Given the description of an element on the screen output the (x, y) to click on. 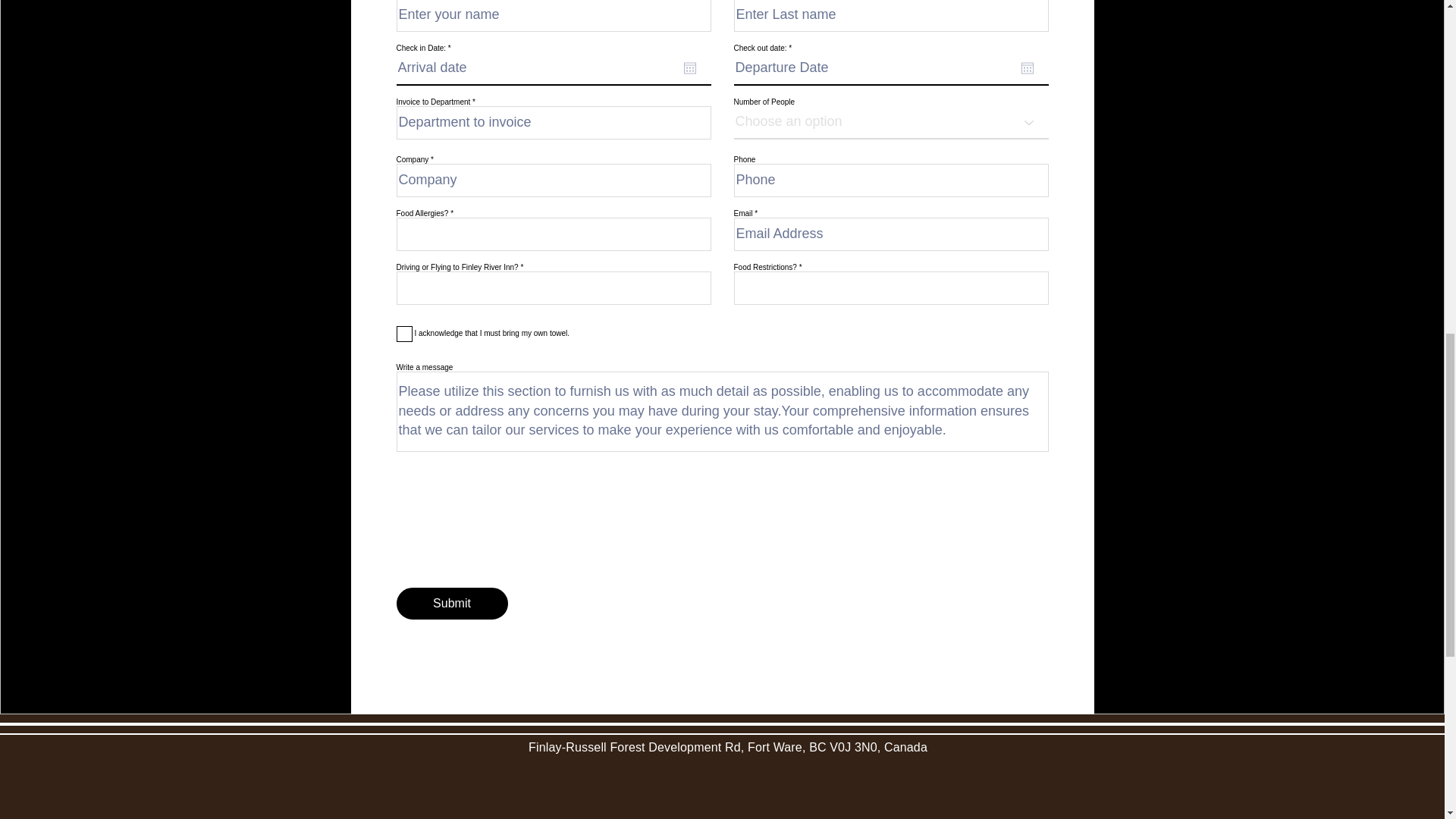
Submit (451, 603)
